Given the description of an element on the screen output the (x, y) to click on. 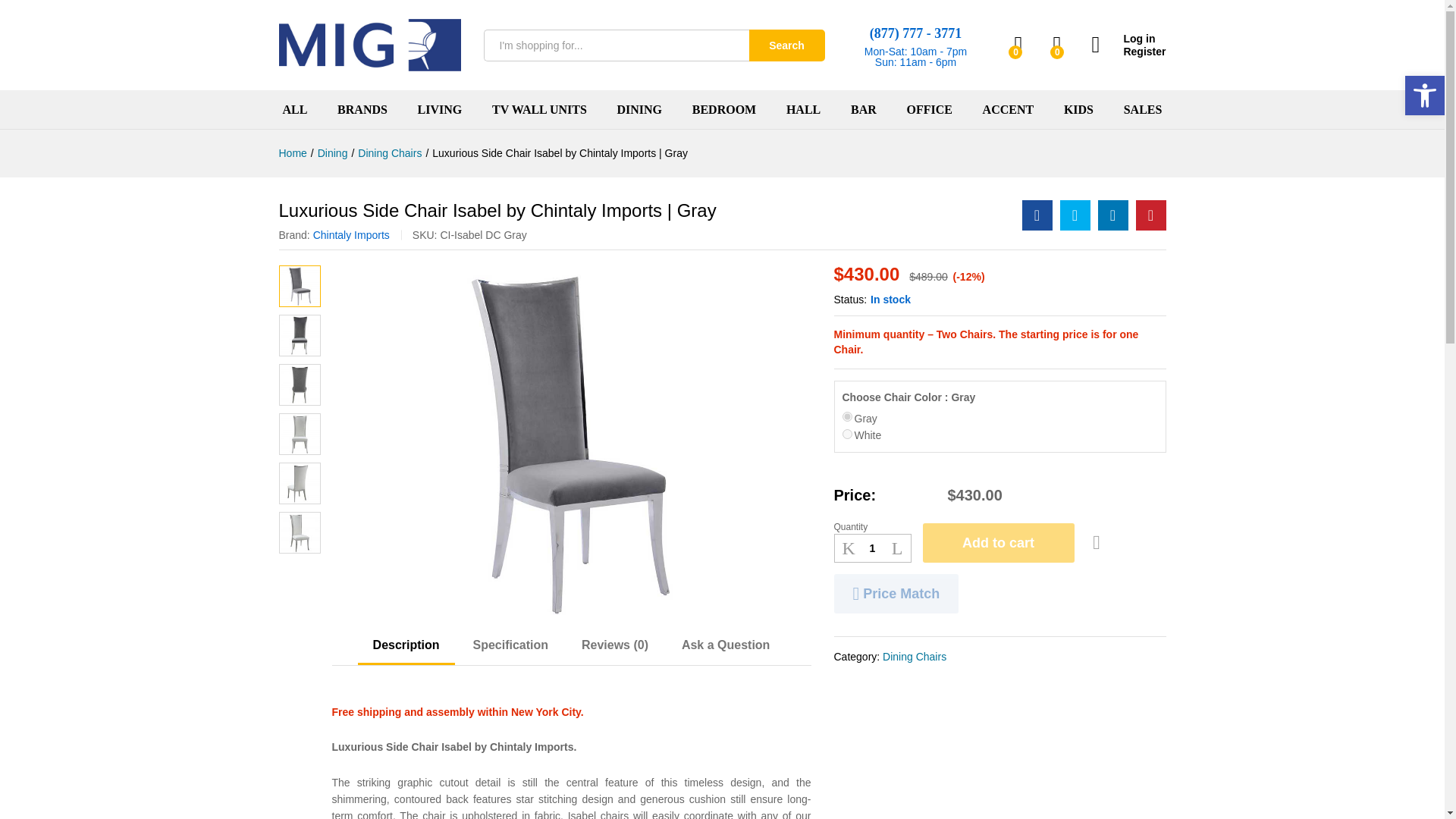
0 (1056, 44)
BRANDS (362, 110)
ALL (294, 110)
Add to Wishlist (1096, 542)
Gray (846, 416)
Log in (1128, 38)
Search (787, 45)
1 (871, 547)
0 (1018, 44)
Accessibility Tools (1424, 95)
White (846, 433)
Register (1128, 51)
